Given the description of an element on the screen output the (x, y) to click on. 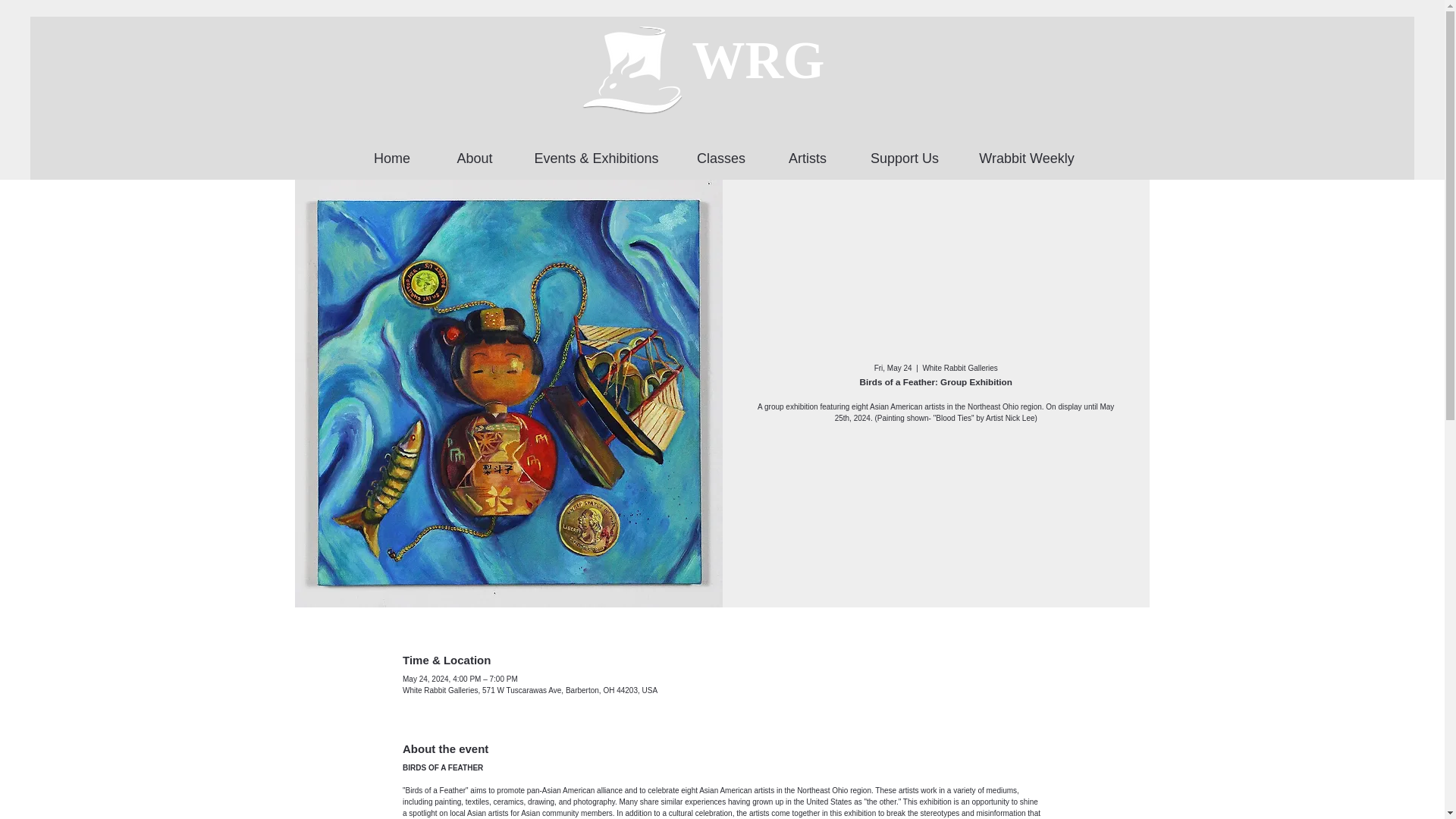
Classes (721, 151)
Home (391, 151)
Support Us (903, 151)
Wrabbit Weekly (1026, 151)
Artists (807, 151)
About (474, 151)
